Given the description of an element on the screen output the (x, y) to click on. 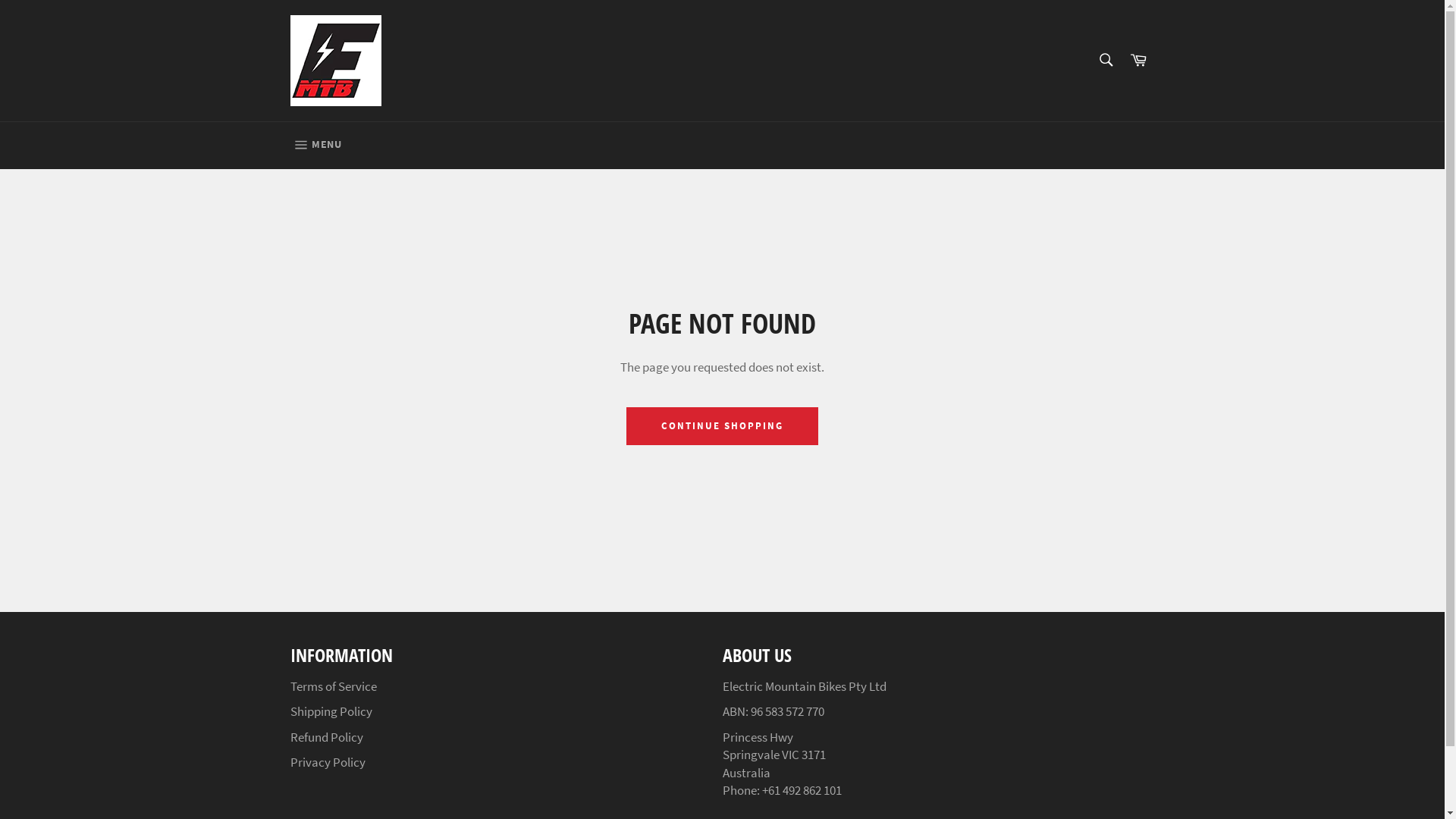
Terms of Service Element type: text (332, 685)
Refund Policy Element type: text (325, 736)
Privacy Policy Element type: text (326, 761)
Shipping Policy Element type: text (330, 710)
MENU
SITE NAVIGATION Element type: text (315, 145)
Search Element type: text (1105, 59)
Cart Element type: text (1138, 60)
CONTINUE SHOPPING Element type: text (721, 426)
